Given the description of an element on the screen output the (x, y) to click on. 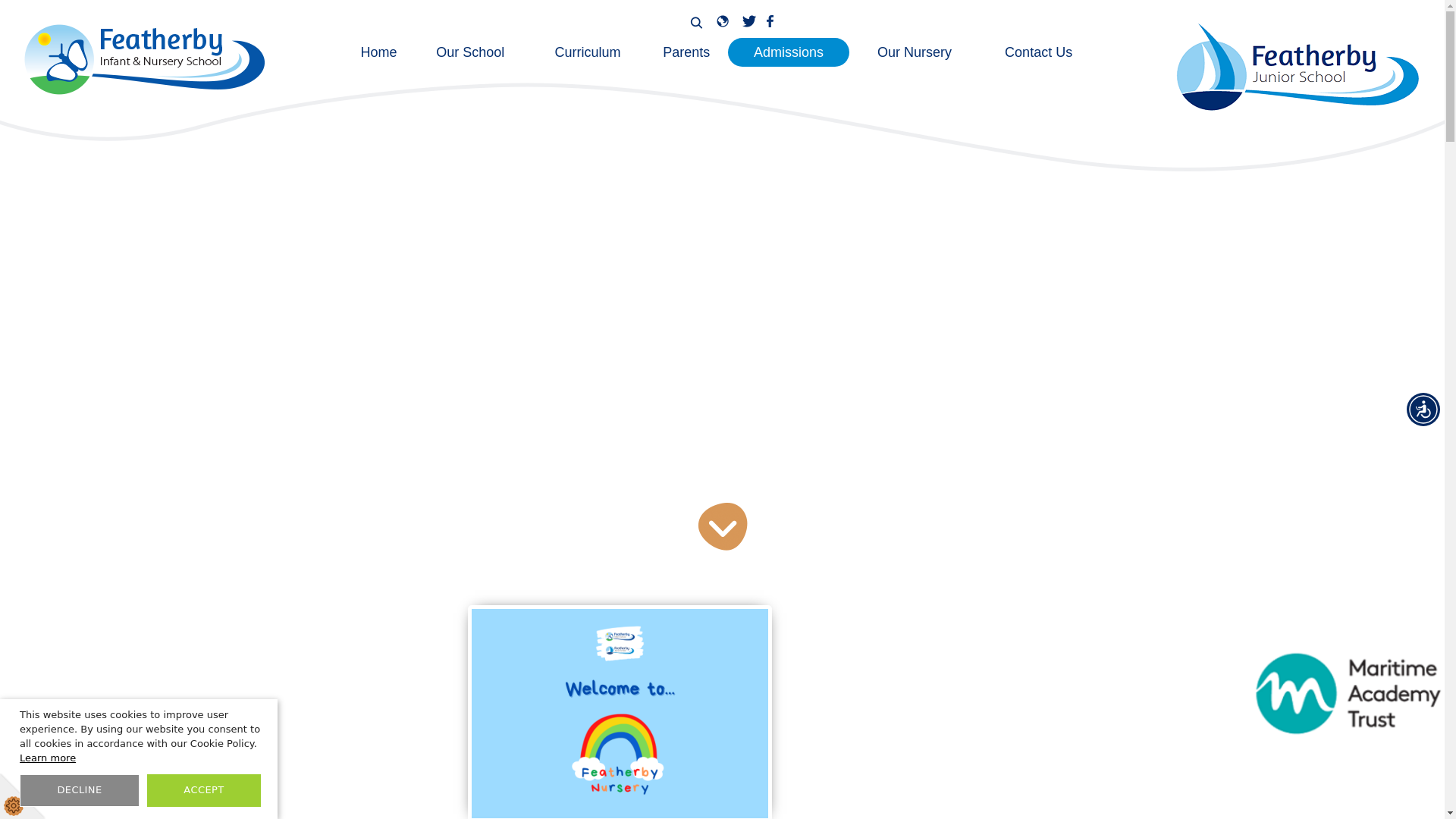
Accessibility Menu (1422, 409)
Home (378, 51)
Our School (469, 51)
Search site (696, 22)
Search site (696, 22)
